Given the description of an element on the screen output the (x, y) to click on. 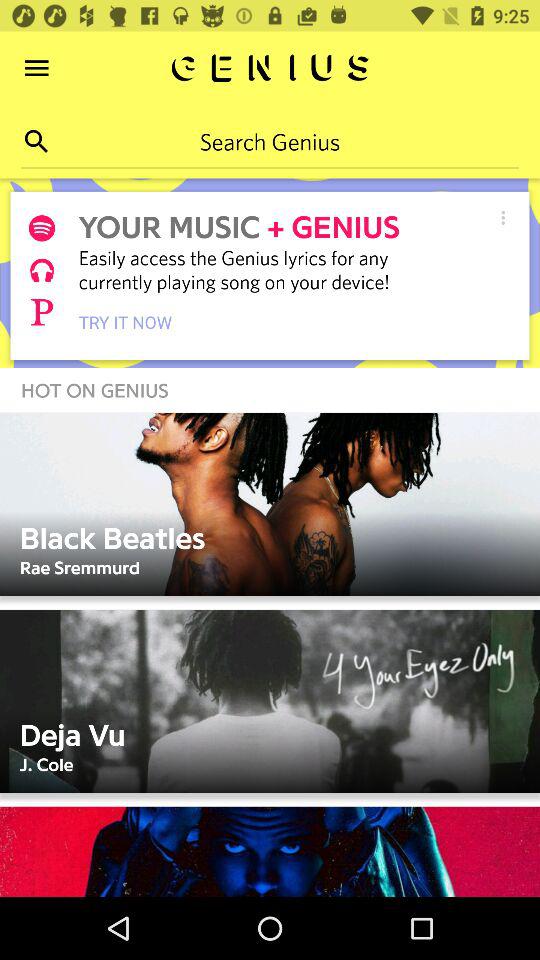
launch item above easily access the item (502, 217)
